Given the description of an element on the screen output the (x, y) to click on. 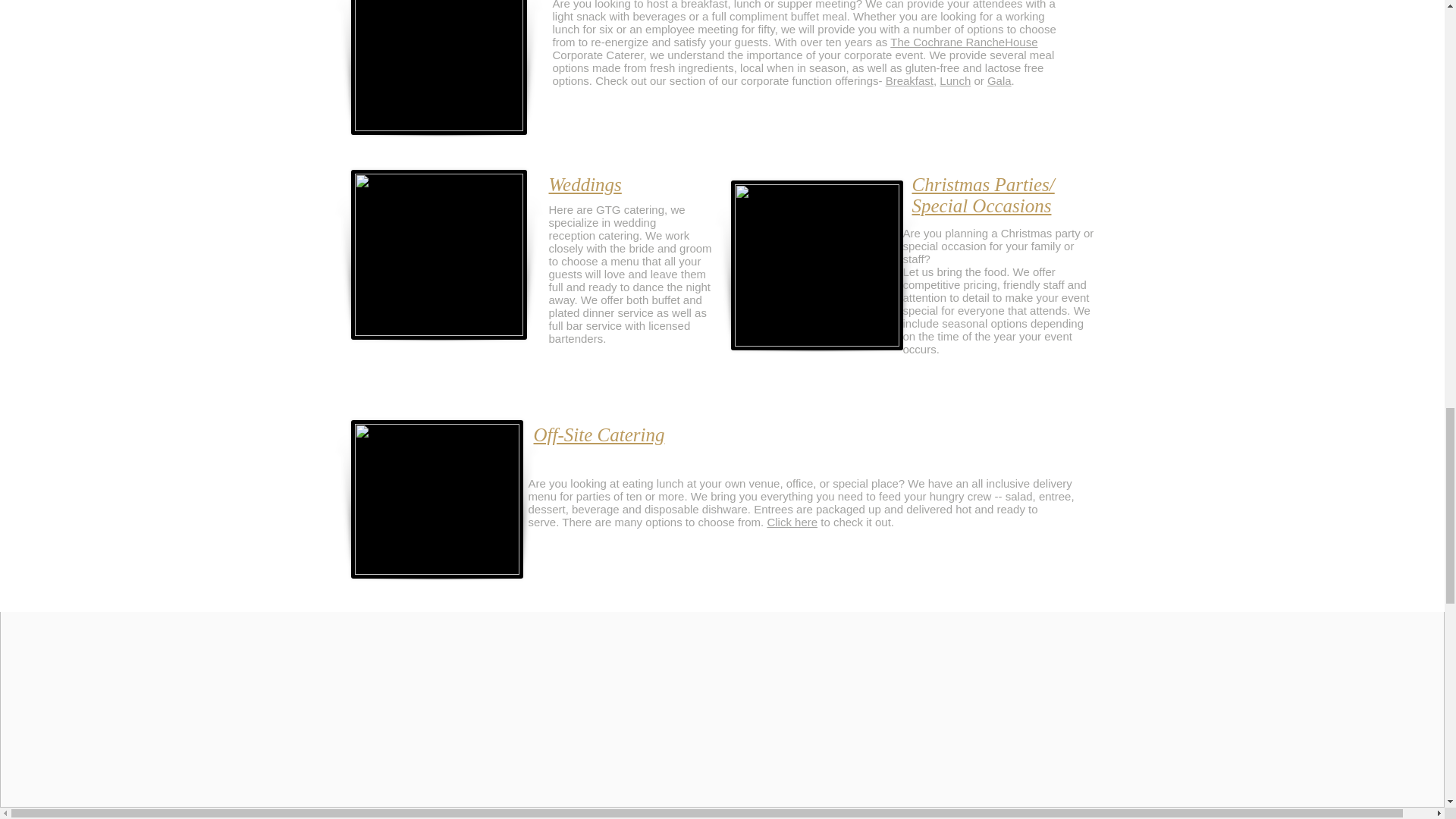
Off-Site Catering (599, 435)
pexels-photo.jpg (437, 67)
Lunch (955, 80)
Gala (999, 80)
Breakfast (909, 80)
Click here (791, 521)
The Cochrane RancheHouse (962, 42)
